Given the description of an element on the screen output the (x, y) to click on. 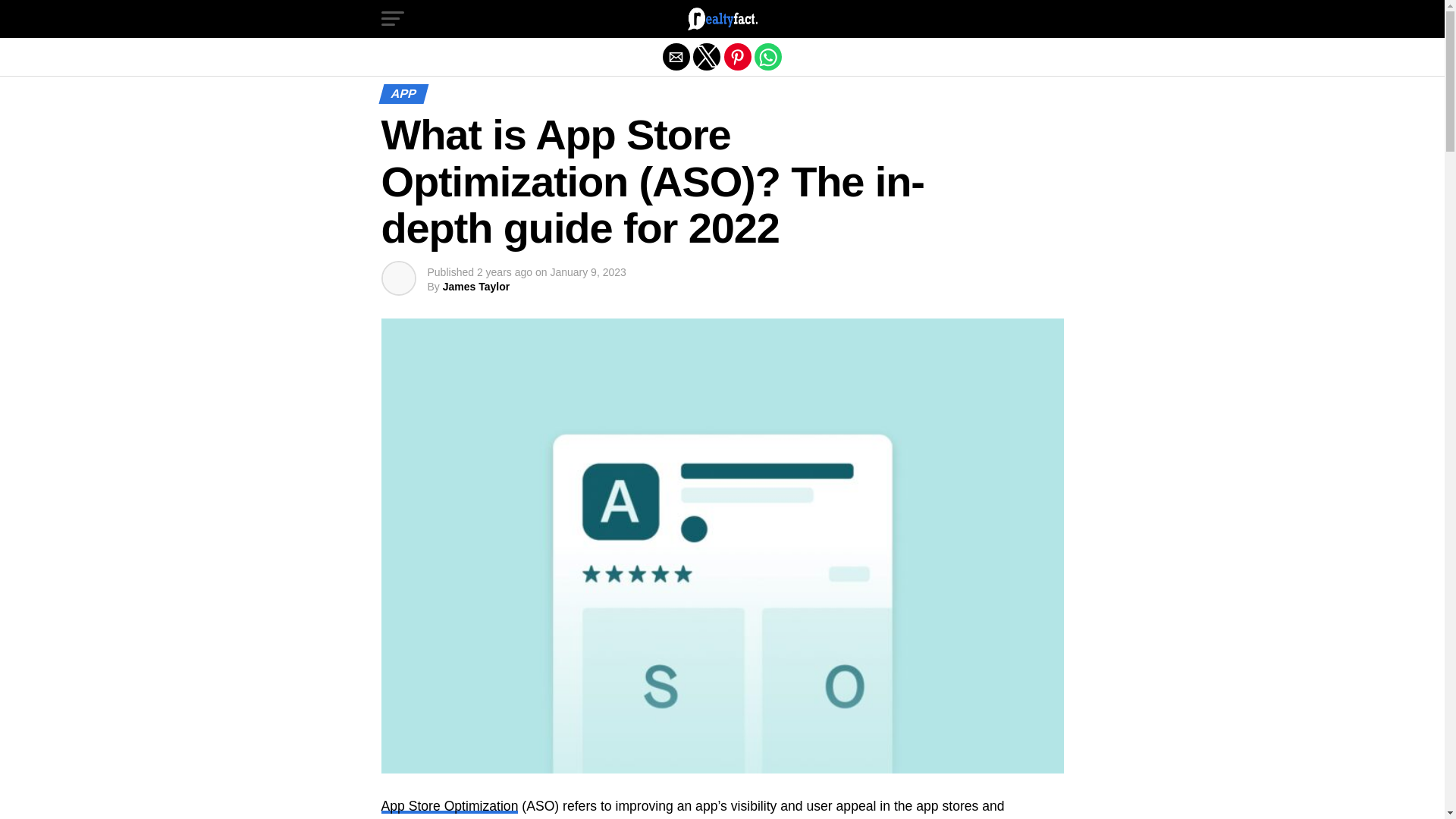
App Store Optimization (449, 806)
Posts by James Taylor (475, 286)
James Taylor (475, 286)
